Given the description of an element on the screen output the (x, y) to click on. 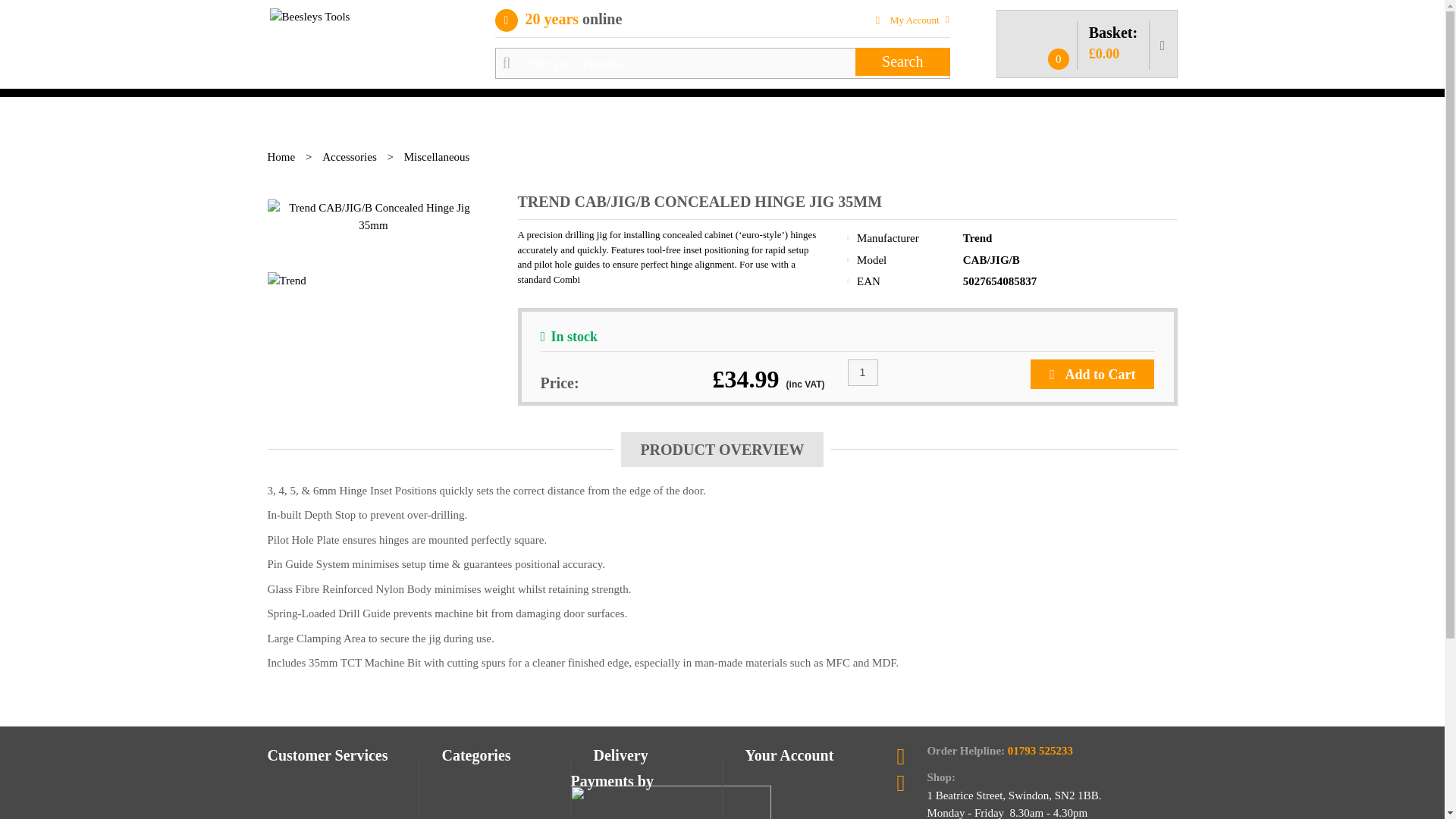
My Account (912, 19)
Trend (977, 237)
1 (862, 372)
